Given the description of an element on the screen output the (x, y) to click on. 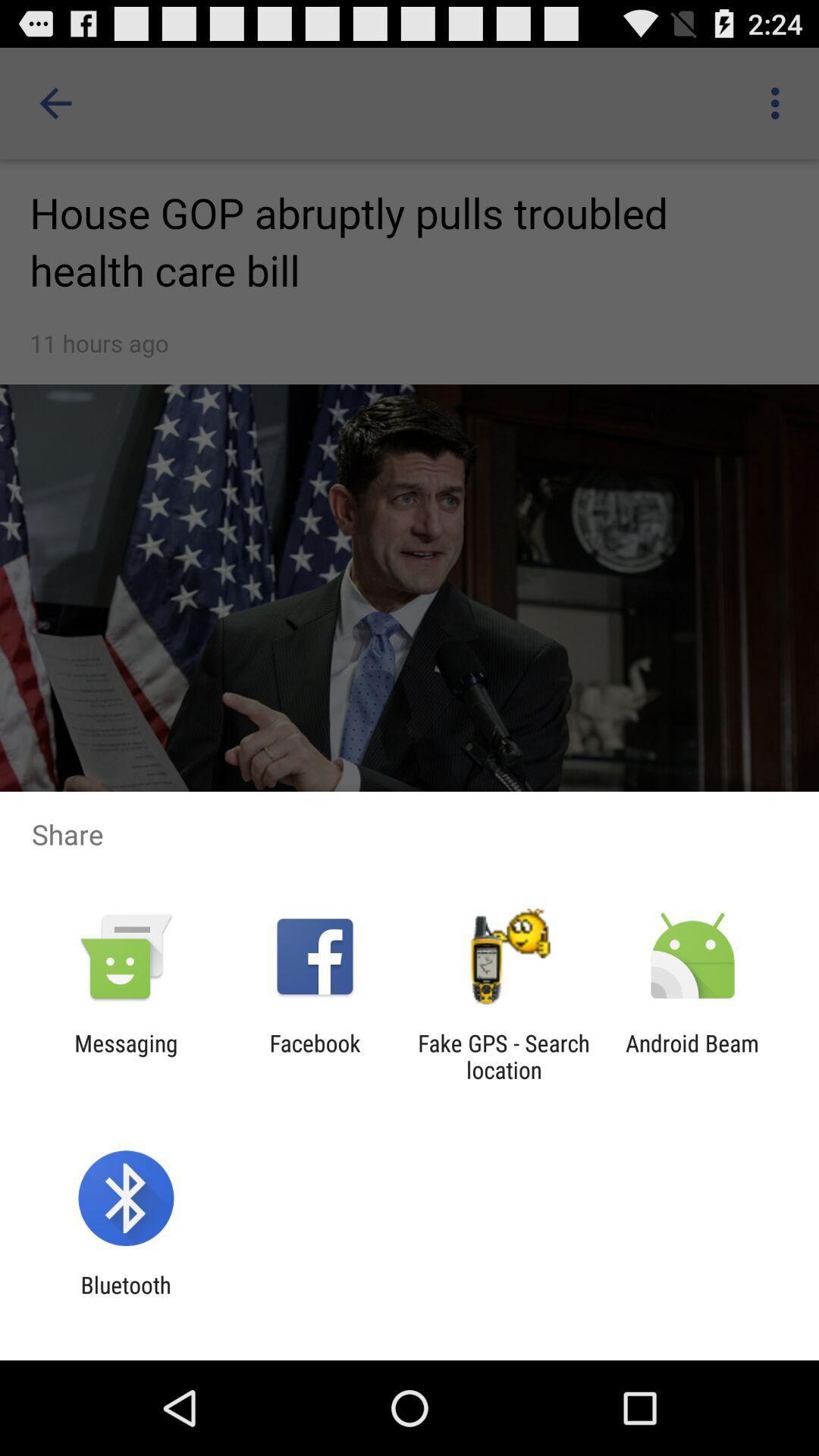
press the fake gps search app (503, 1056)
